Given the description of an element on the screen output the (x, y) to click on. 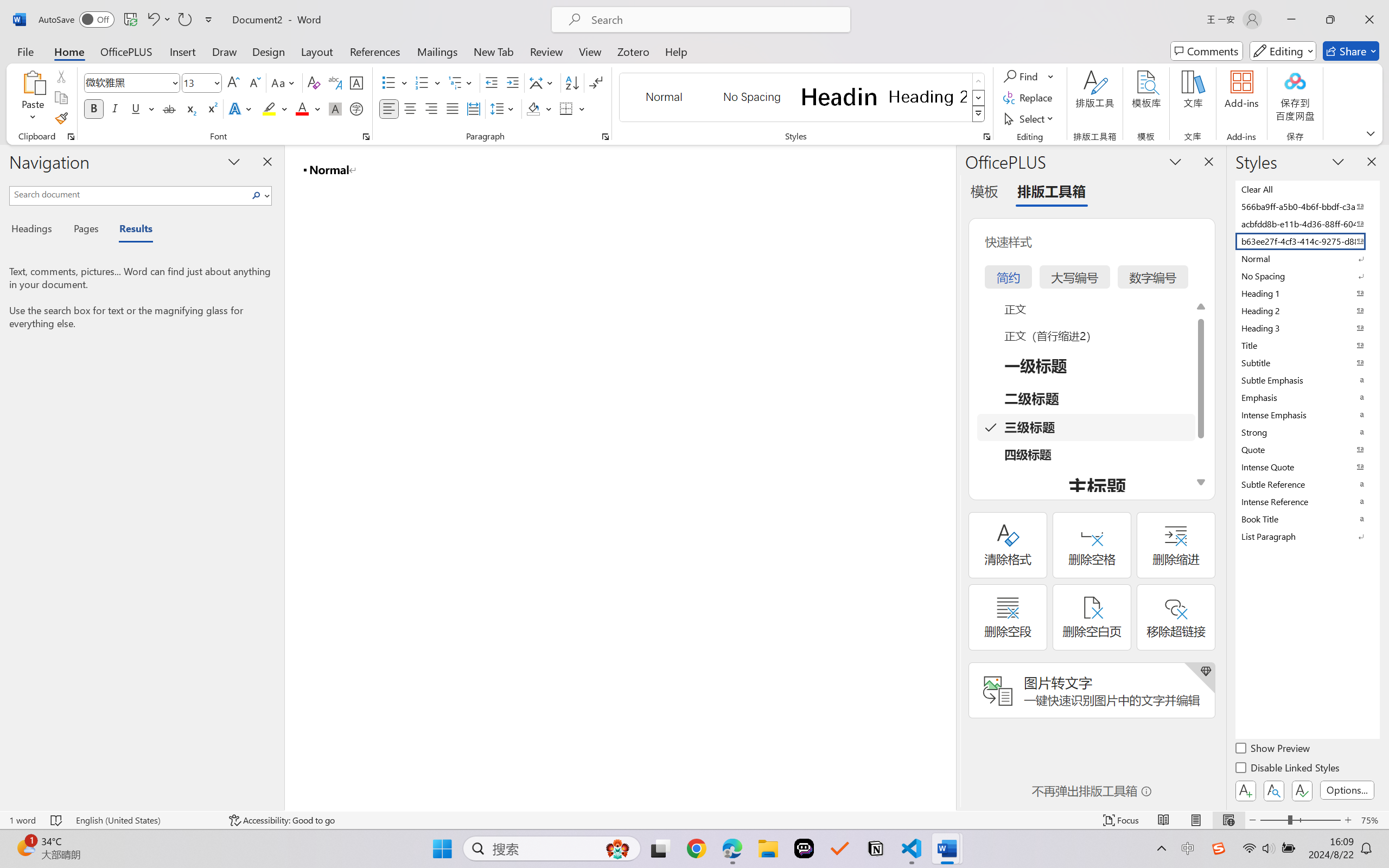
Disable Linked Styles (1287, 769)
OfficePLUS (126, 51)
Decrease Indent (491, 82)
Heading 1 (839, 96)
Accessibility Checker Accessibility: Good to go (282, 819)
Class: NetUIImage (978, 114)
Clear All (1306, 188)
Word Count 1 word (21, 819)
Undo <ApplyStyleToDoc>b__0 (152, 19)
Search (256, 195)
Text Effects and Typography (241, 108)
Font Color Red (302, 108)
